Given the description of an element on the screen output the (x, y) to click on. 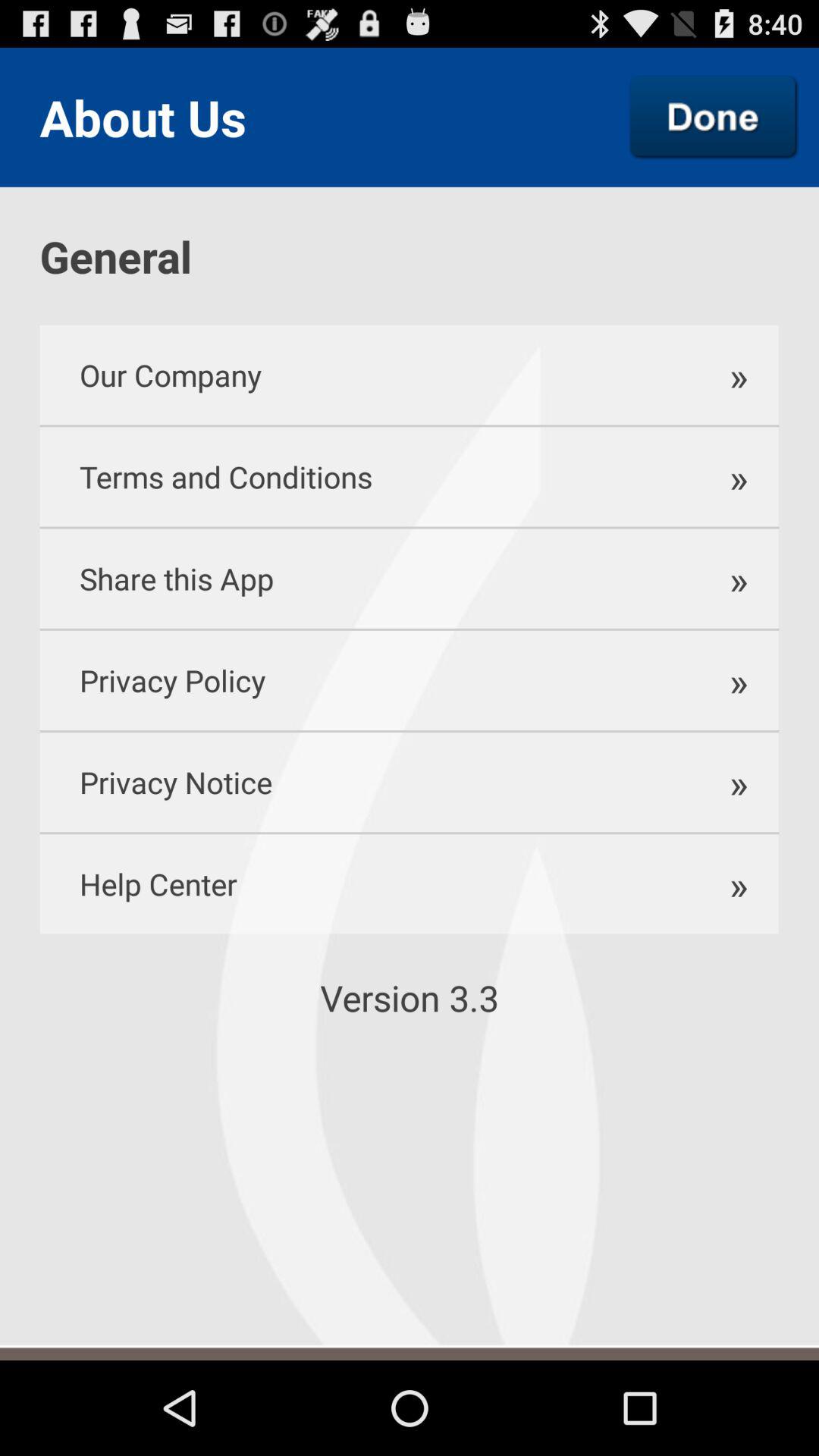
flip to the share this app (361, 578)
